Given the description of an element on the screen output the (x, y) to click on. 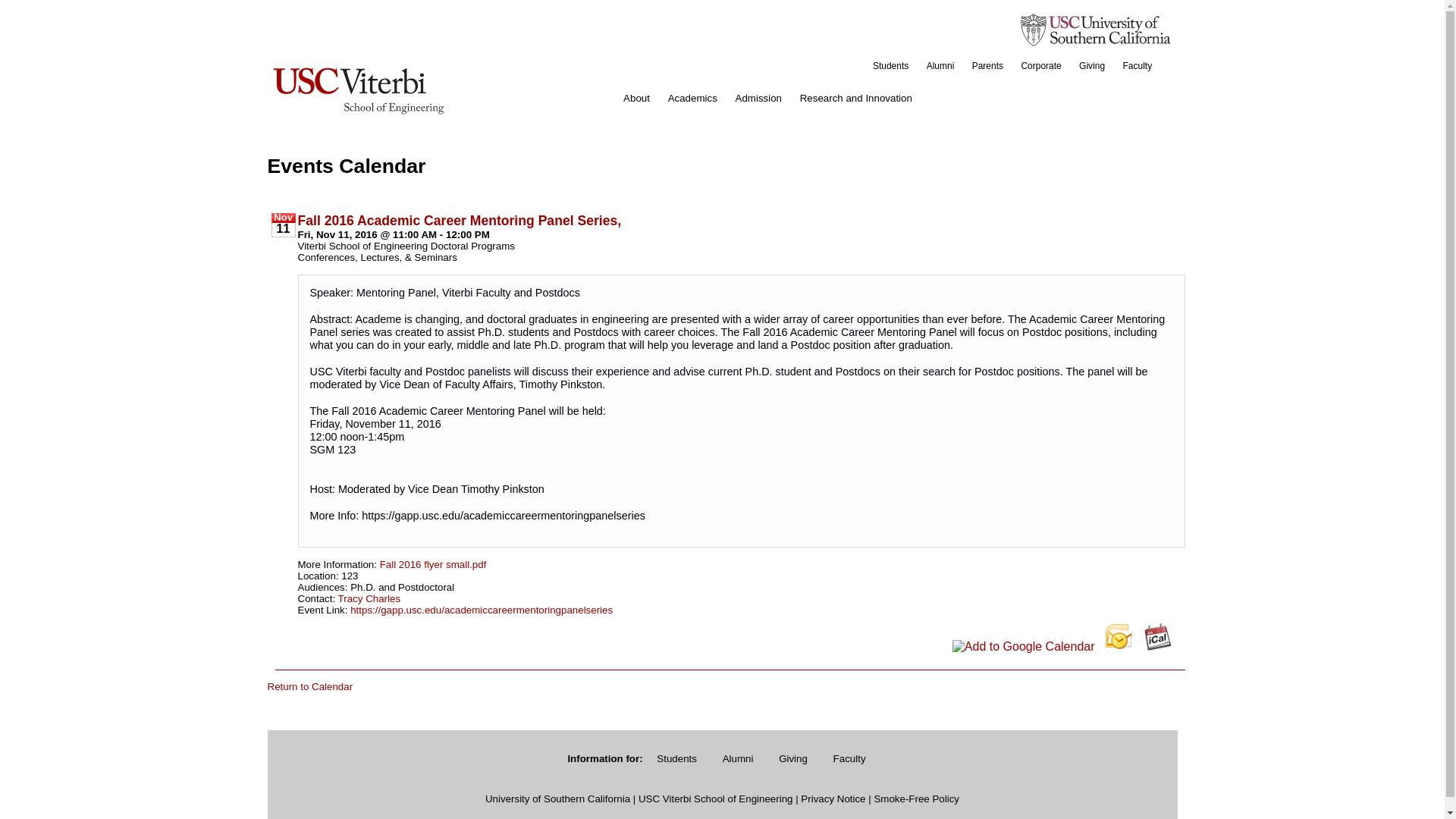
Giving (1091, 65)
Faculty (1136, 65)
USC Viterbi School of Engineering (716, 798)
Academics (693, 98)
University of Southern California (557, 798)
Return to Calendar (309, 686)
Viterbi School of Engineering (357, 89)
Fall 2016 Academic Career Mentoring Panel Series, (459, 219)
Fall 2016 flyer small.pdf (433, 563)
Alumni (738, 758)
Alumni (940, 65)
Tracy Charles (368, 597)
Giving (792, 758)
Students (889, 65)
Faculty (849, 758)
